Given the description of an element on the screen output the (x, y) to click on. 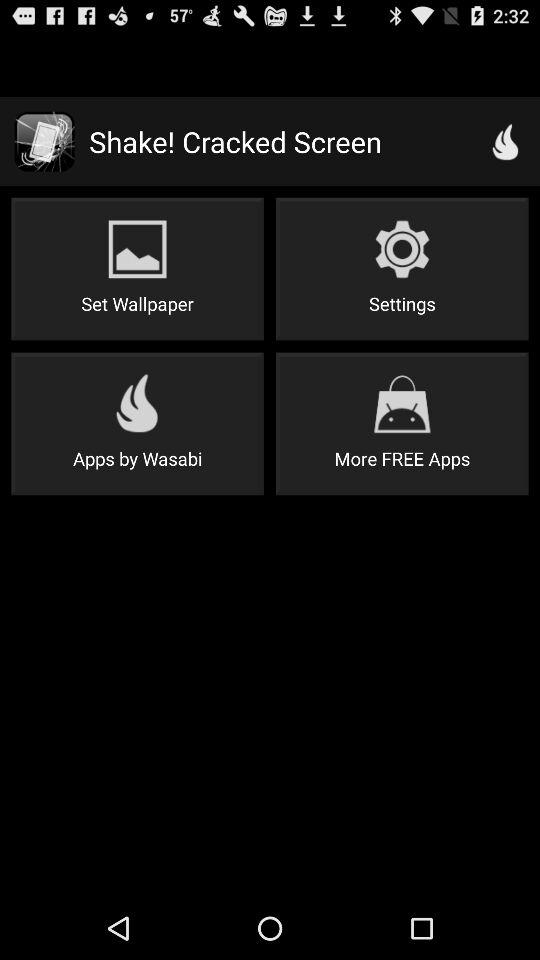
turn on settings icon (402, 268)
